Given the description of an element on the screen output the (x, y) to click on. 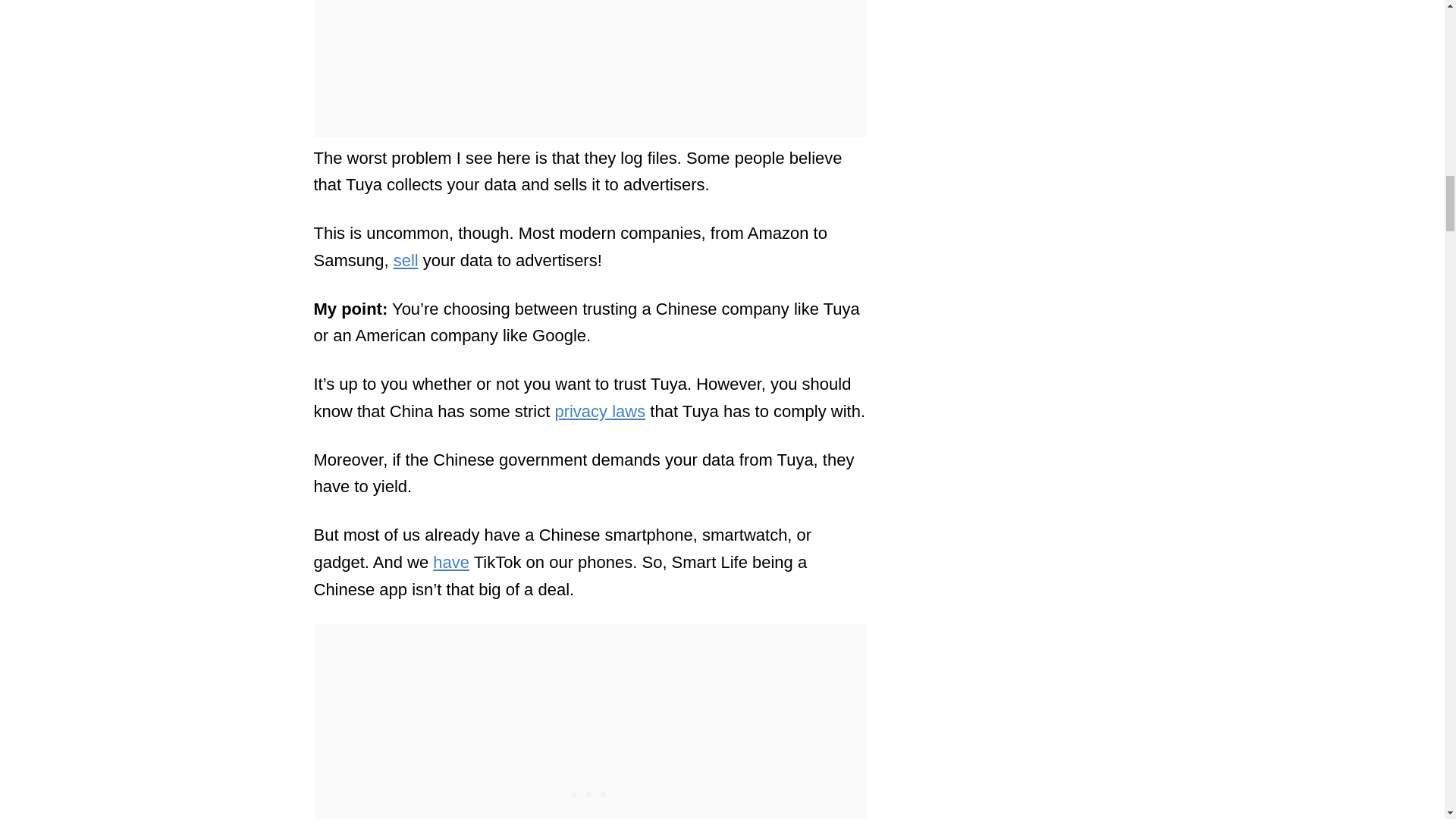
privacy laws (599, 411)
have (450, 561)
sell (406, 260)
